Given the description of an element on the screen output the (x, y) to click on. 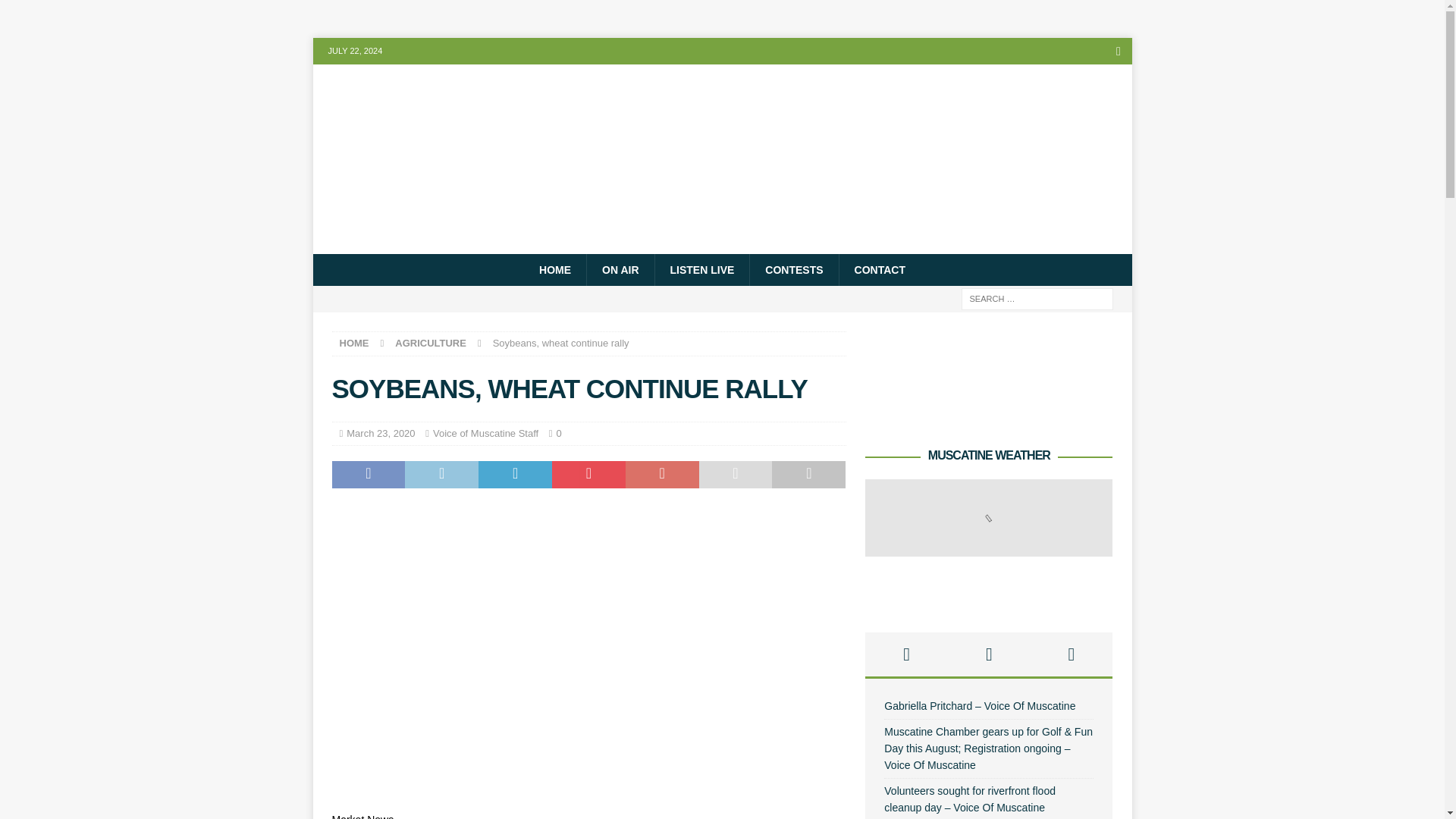
Voice of Muscatine Staff (485, 432)
CONTACT (879, 269)
AGRICULTURE (429, 342)
LISTEN LIVE (701, 269)
CONTESTS (793, 269)
March 23, 2020 (380, 432)
HOME (354, 342)
ON AIR (619, 269)
HOME (555, 269)
Soybeans, wheat continue rally (482, 651)
Search (56, 11)
